Given the description of an element on the screen output the (x, y) to click on. 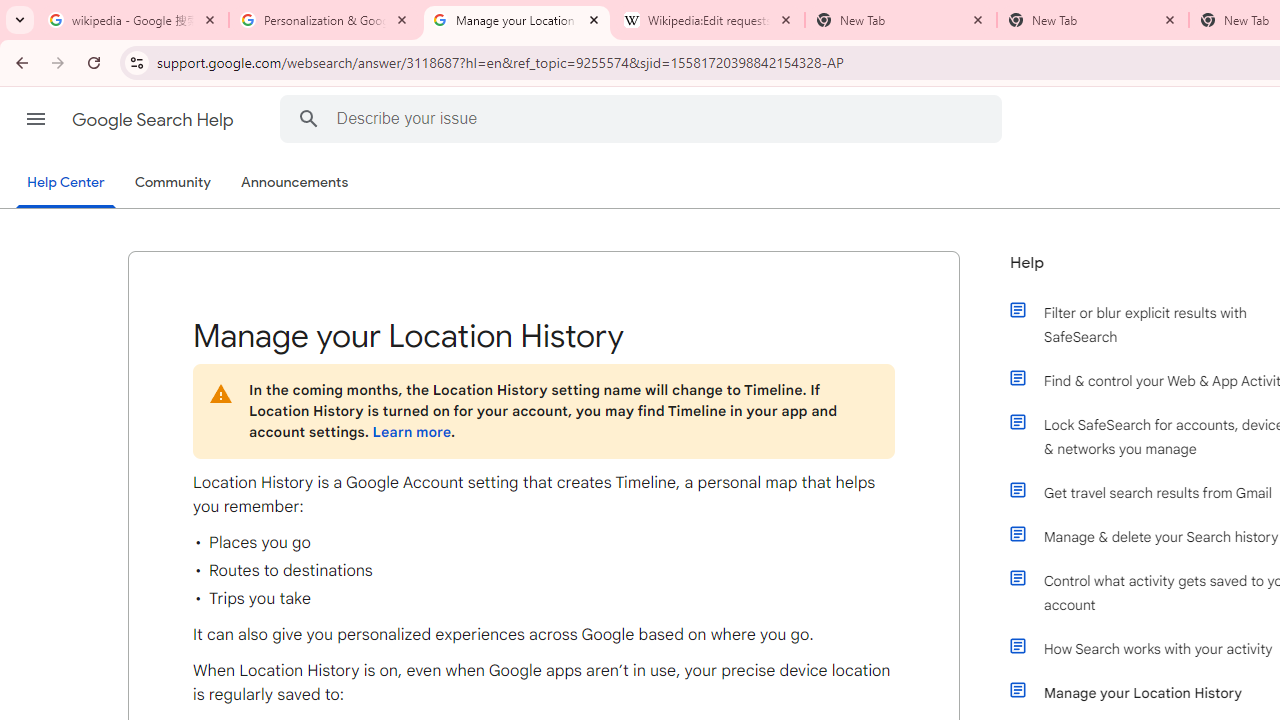
New Tab (1093, 20)
Manage your Location History - Google Search Help (517, 20)
Learn more (411, 431)
Search Help Center (308, 118)
